Given the description of an element on the screen output the (x, y) to click on. 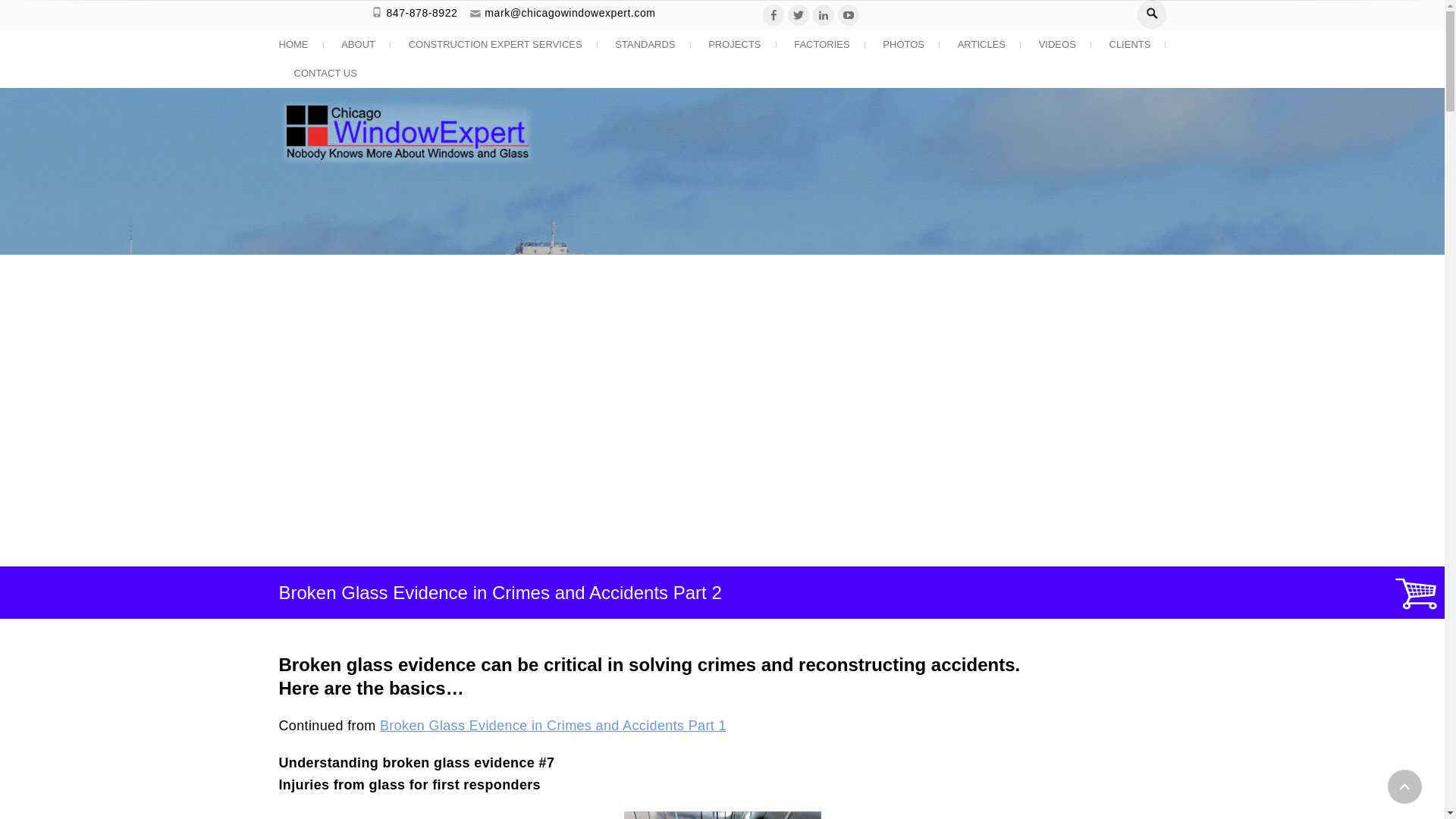
ARTICLES (981, 44)
PROJECTS (734, 44)
Chicago Window Expert (579, 210)
ABOUT (358, 44)
STANDARDS (644, 44)
CONSTRUCTION EXPERT SERVICES (494, 44)
847-878-8922 (421, 12)
Consultant to Architects, Engineers and Contractors (915, 293)
Chicago Window Expert (579, 210)
847-878-8922 (421, 12)
